Given the description of an element on the screen output the (x, y) to click on. 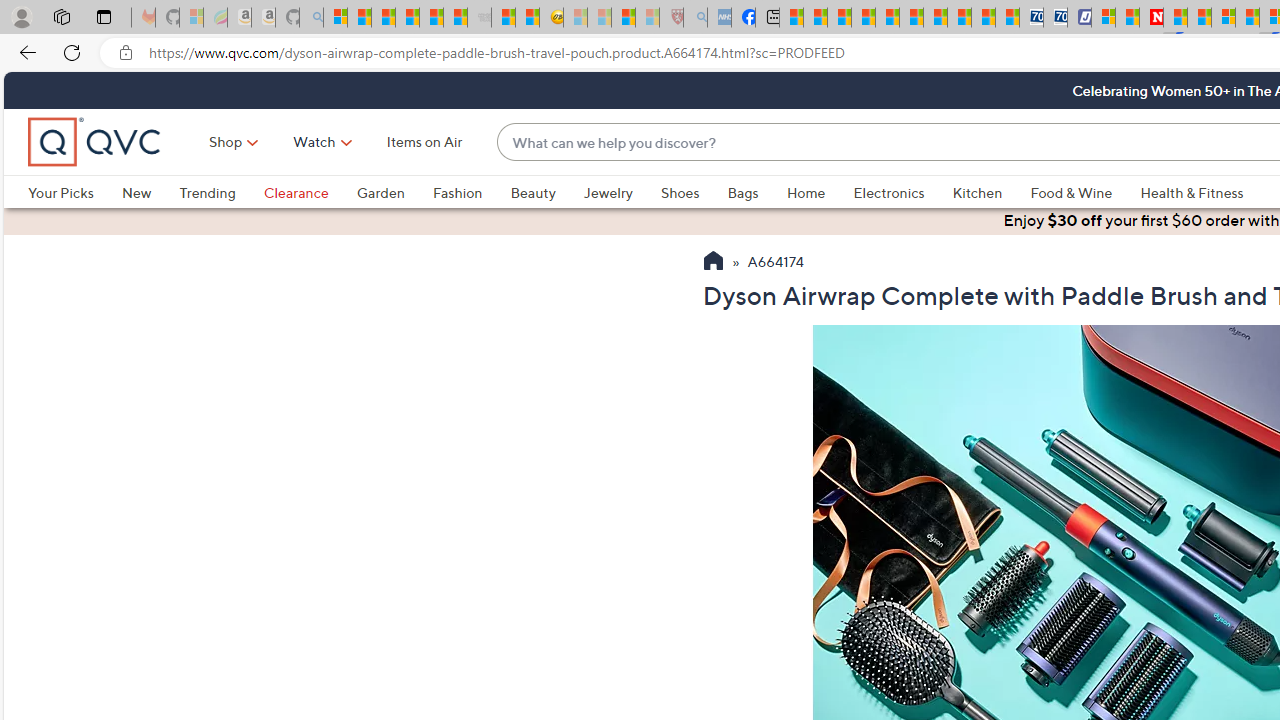
QVC home (95, 141)
Cheap Hotels - Save70.com (1055, 17)
Beauty (532, 192)
Your Picks (74, 192)
Electronics (902, 192)
Food & Wine (1085, 192)
Food & Wine (1071, 192)
Clearance (295, 192)
New Report Confirms 2023 Was Record Hot | Watch (430, 17)
Trending (221, 192)
